Given the description of an element on the screen output the (x, y) to click on. 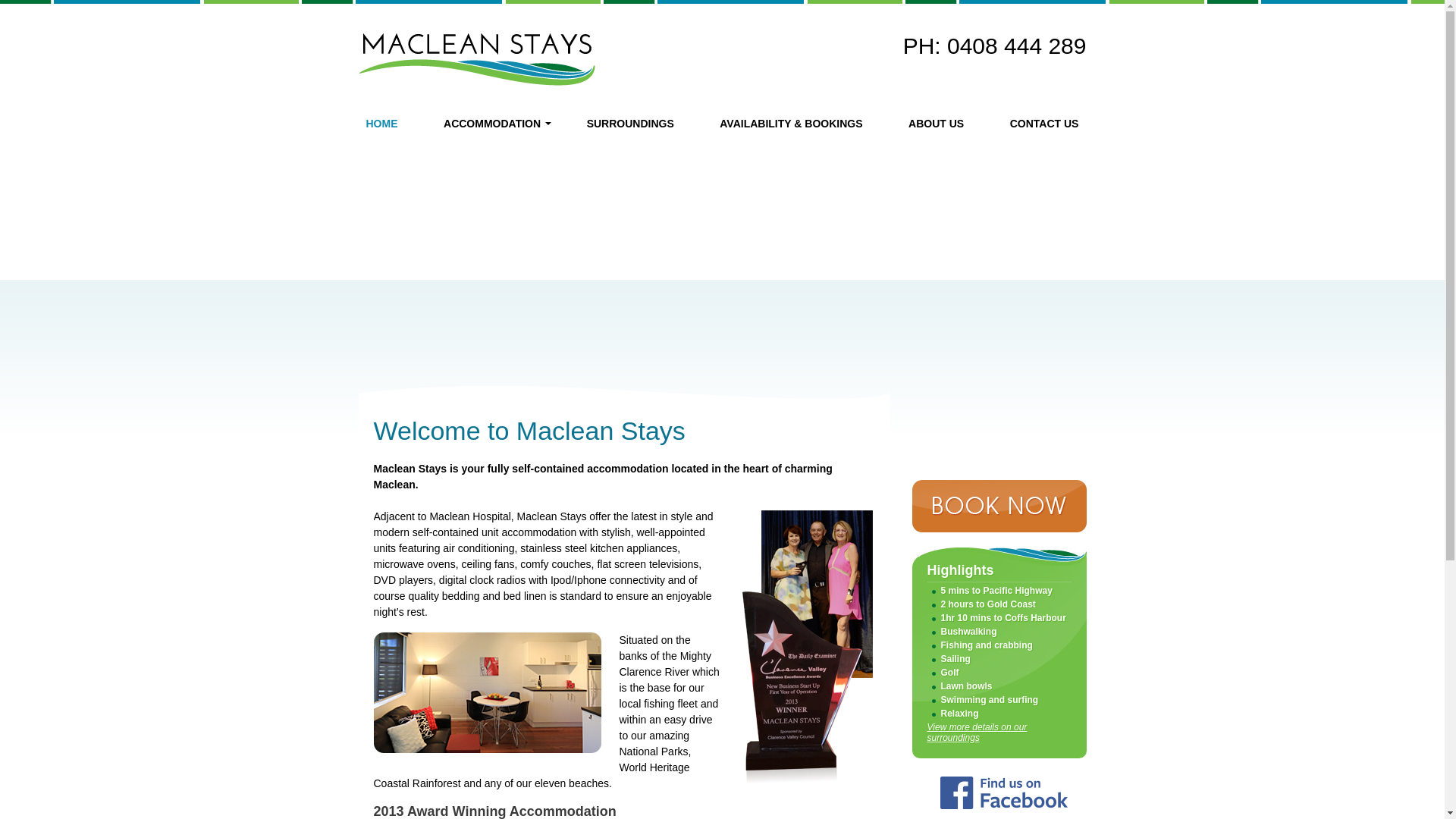
CONTACT US Element type: text (1044, 123)
Book Now Element type: hover (998, 506)
View more details on our surroundings Element type: text (976, 732)
img-room Element type: hover (486, 692)
ABOUT US Element type: text (935, 123)
HOME Element type: text (380, 123)
Maclean Stays Element type: hover (475, 59)
ACCOMMODATION Element type: text (492, 123)
PH: 0408 444 289 Element type: text (994, 45)
AVAILABILITY & BOOKINGS Element type: text (790, 123)
SURROUNDINGS Element type: text (630, 123)
